Given the description of an element on the screen output the (x, y) to click on. 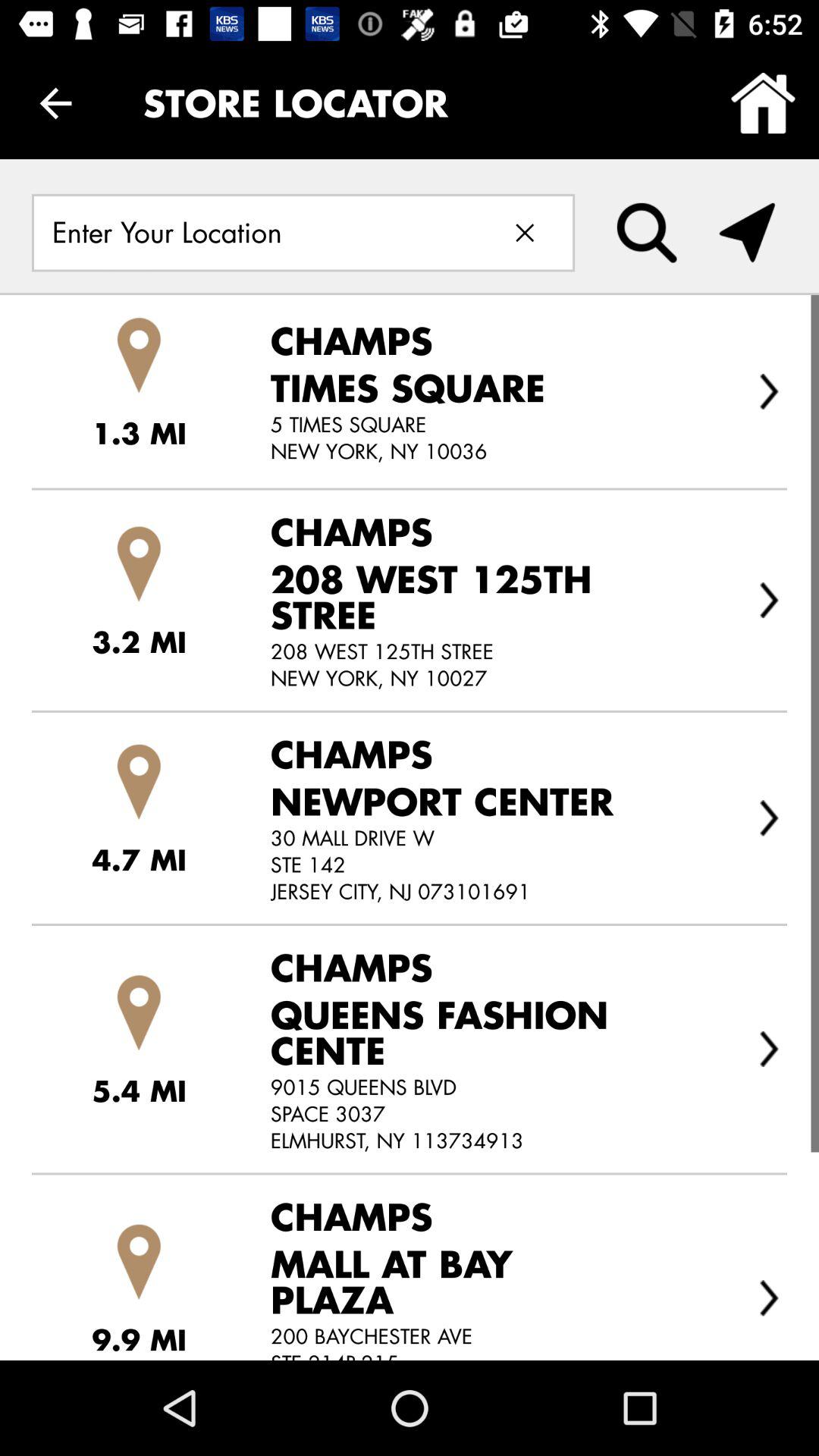
select the item to the left of the store locator icon (55, 103)
